Given the description of an element on the screen output the (x, y) to click on. 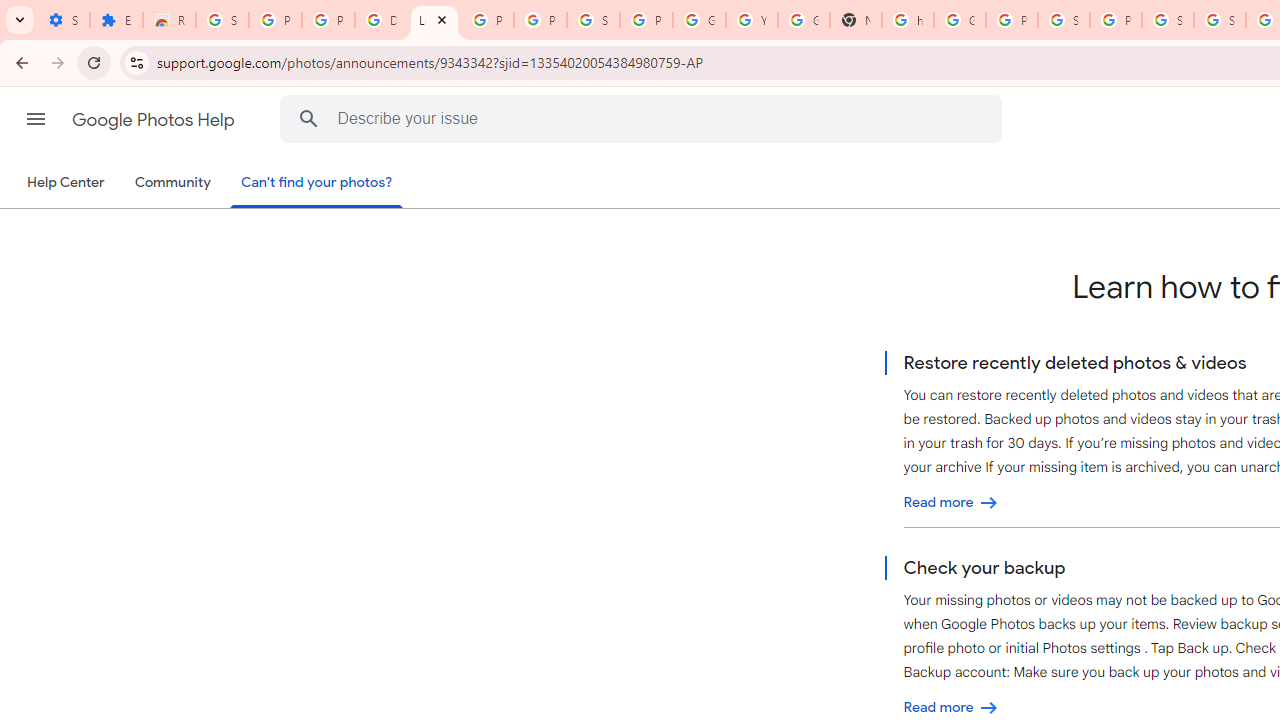
Reviews: Helix Fruit Jump Arcade Game (169, 20)
Sign in - Google Accounts (1219, 20)
New Tab (855, 20)
